Given the description of an element on the screen output the (x, y) to click on. 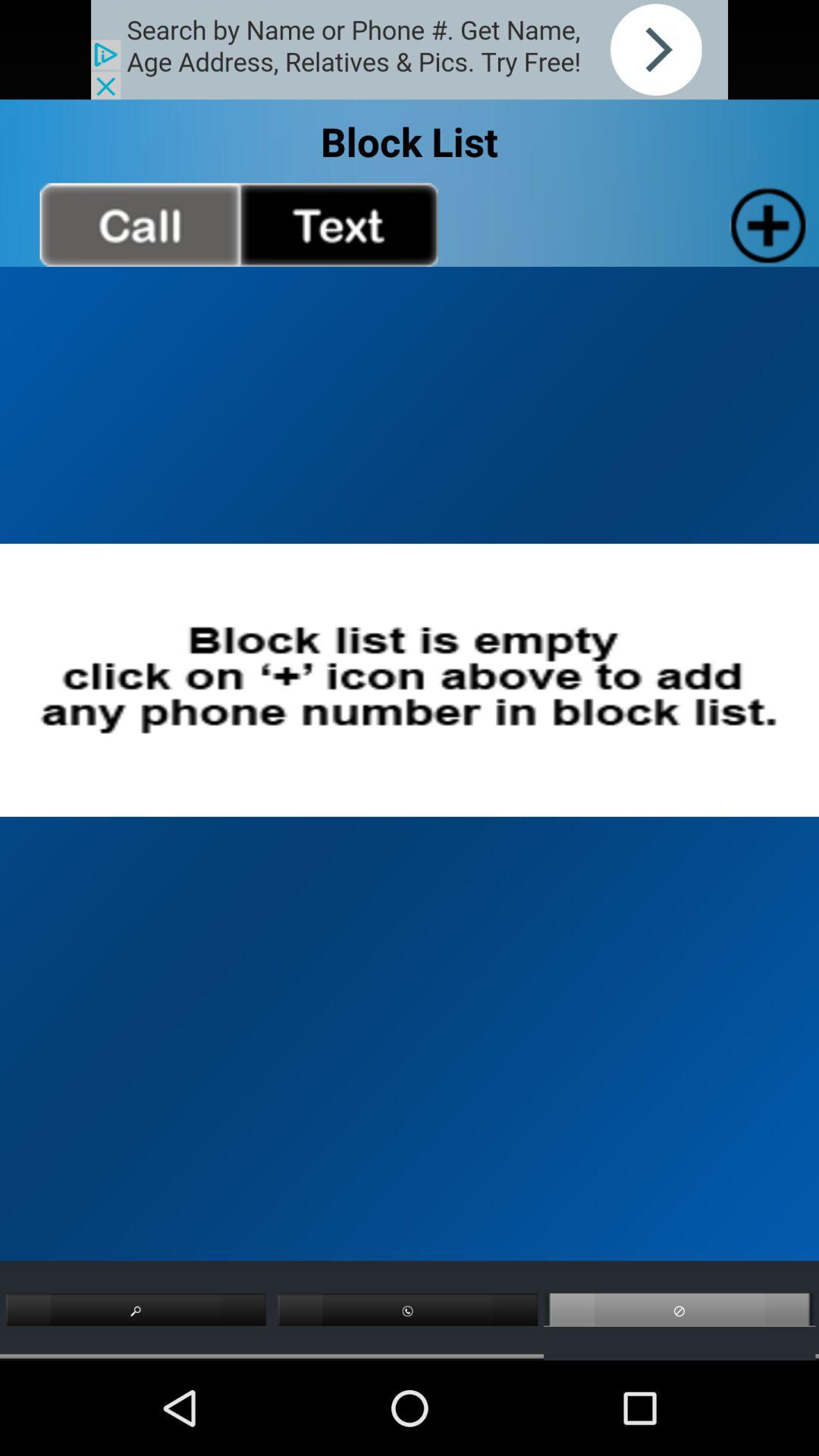
add to block list (765, 224)
